Given the description of an element on the screen output the (x, y) to click on. 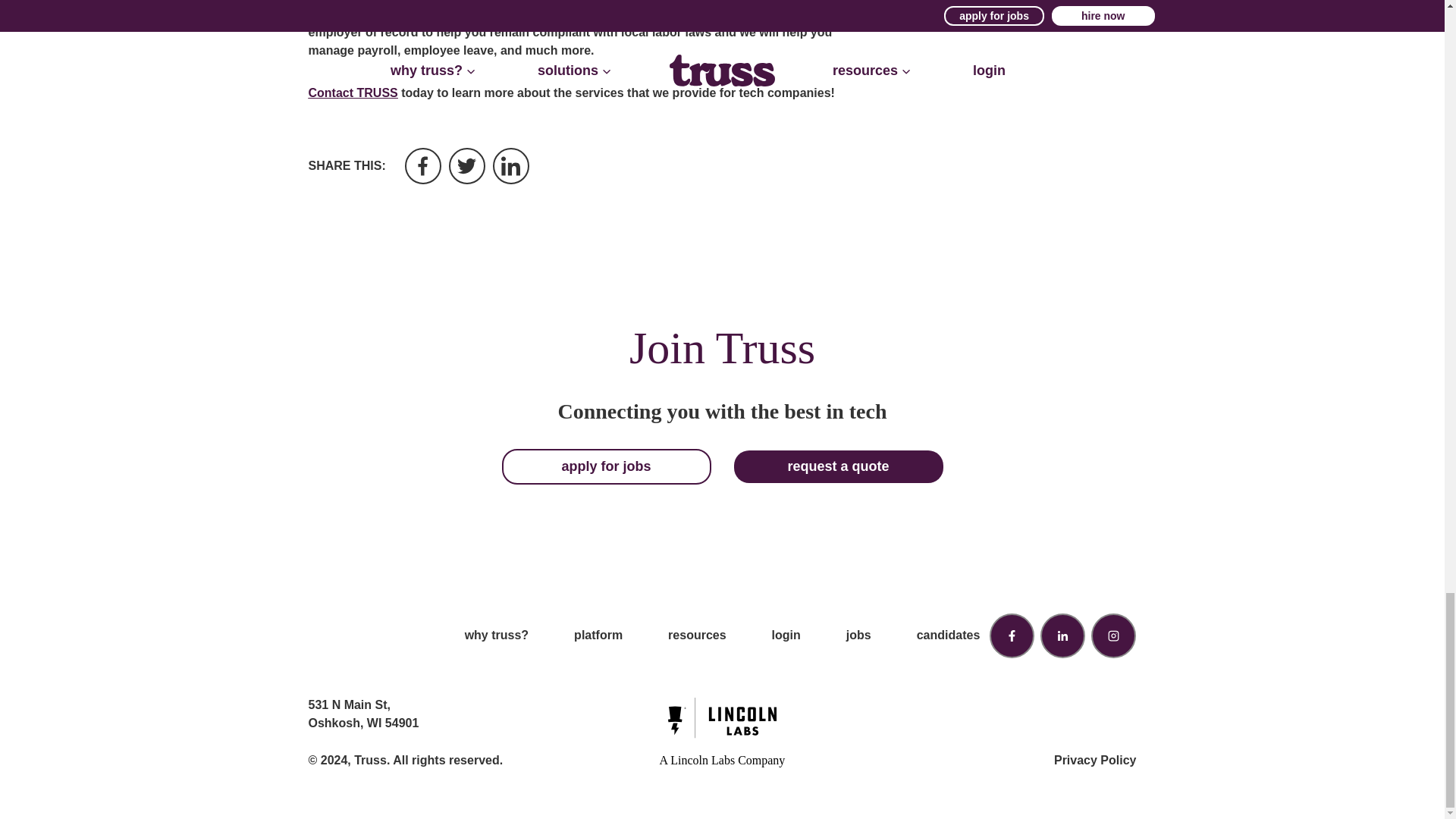
Share in LinkedIn (511, 166)
Share in Facebook (422, 166)
Contact TRUSS (352, 92)
Share in Twitter (466, 166)
